Given the description of an element on the screen output the (x, y) to click on. 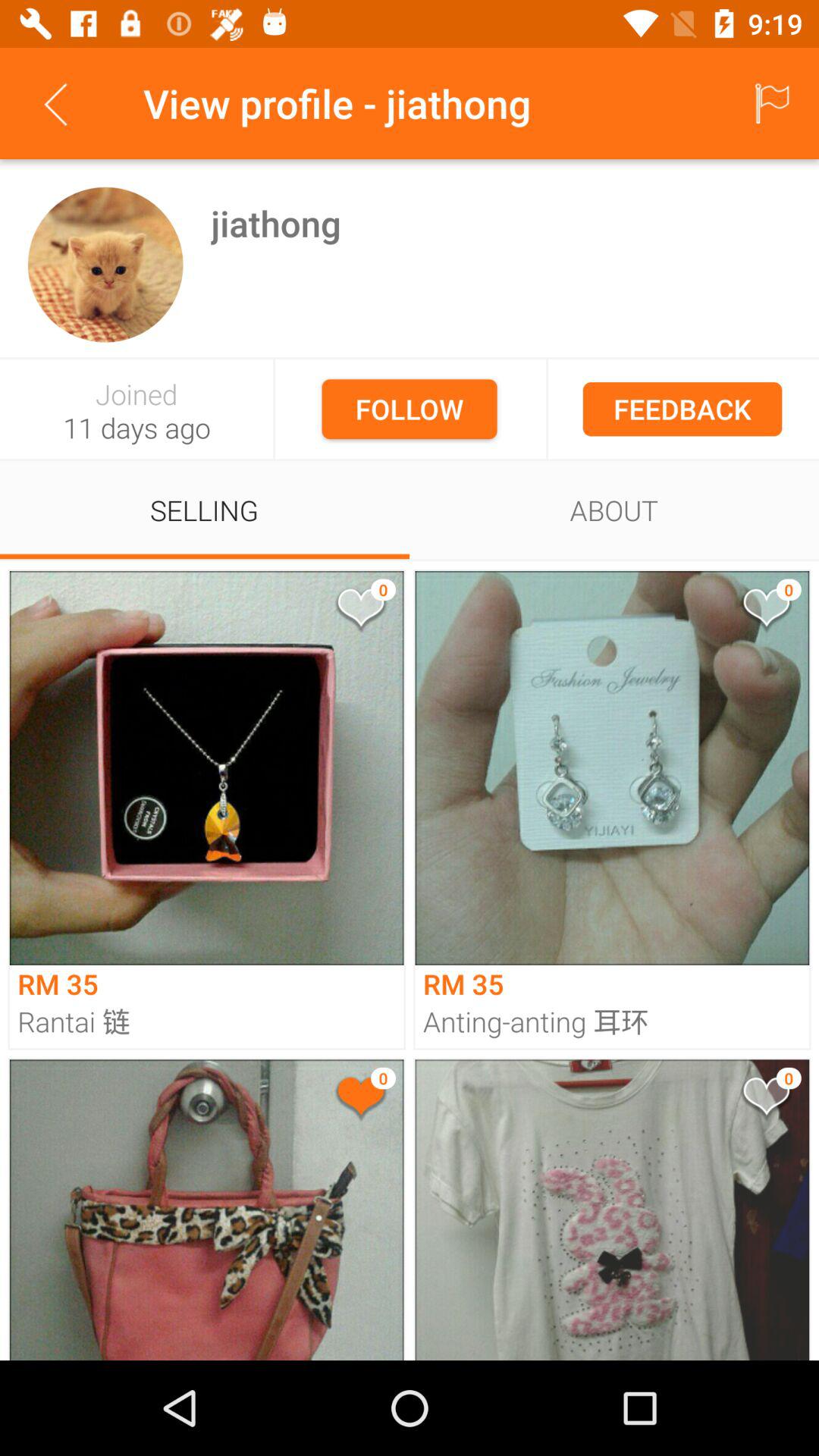
turn off item to the left of the jiathong (105, 264)
